Given the description of an element on the screen output the (x, y) to click on. 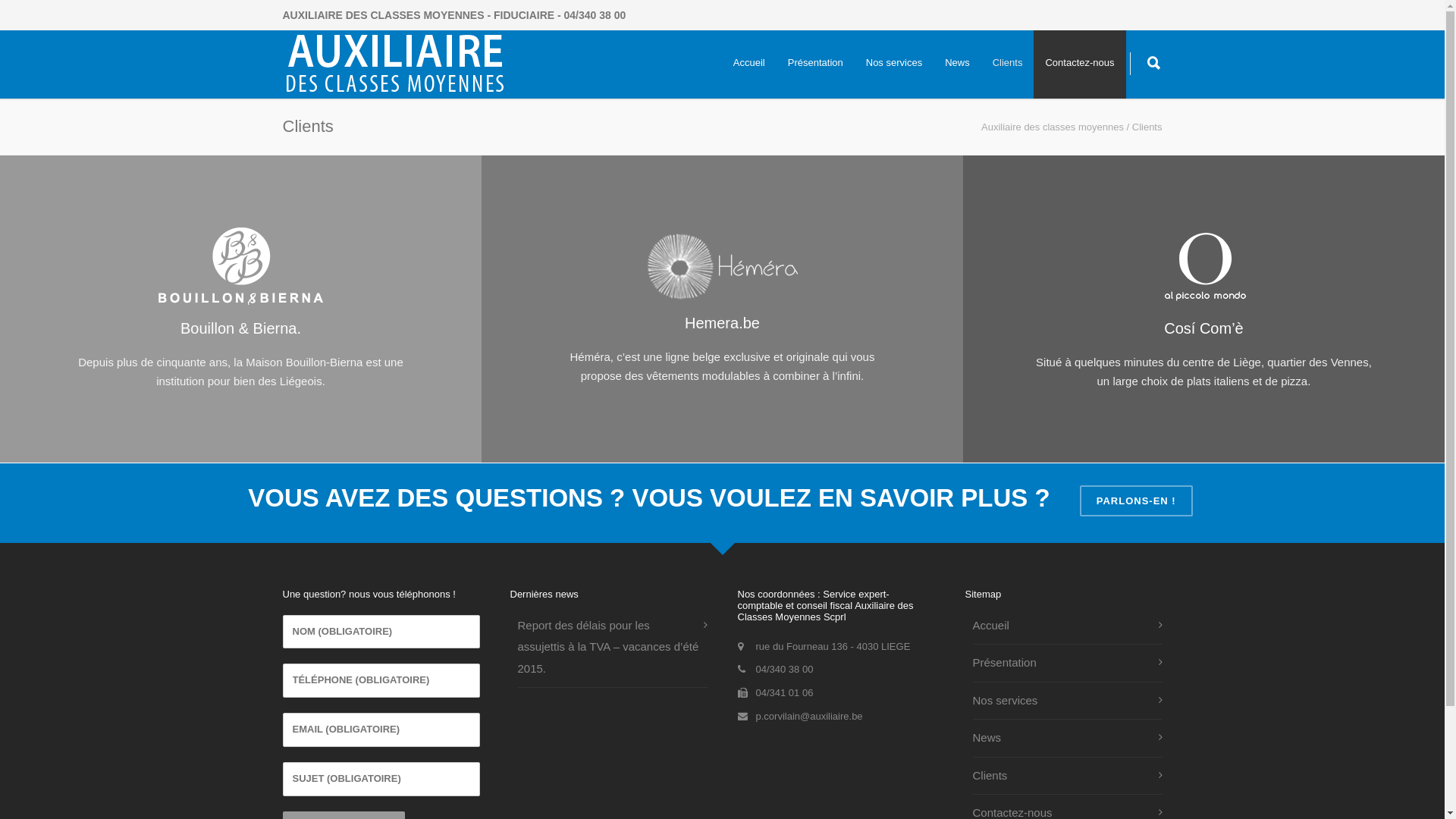
PARLONS-EN ! Element type: text (1135, 500)
News Element type: text (957, 62)
p.corvilain@auxiliaire.be Element type: text (808, 715)
Auxiliaire des classes moyennes Element type: text (1052, 126)
Accueil Element type: text (748, 62)
Accueil Element type: text (1063, 625)
Nos services Element type: text (1063, 701)
Clients Element type: text (1063, 775)
News Element type: text (1063, 738)
Nos services Element type: text (893, 62)
Clients Element type: text (1007, 62)
Contactez-nous Element type: text (1079, 62)
